Given the description of an element on the screen output the (x, y) to click on. 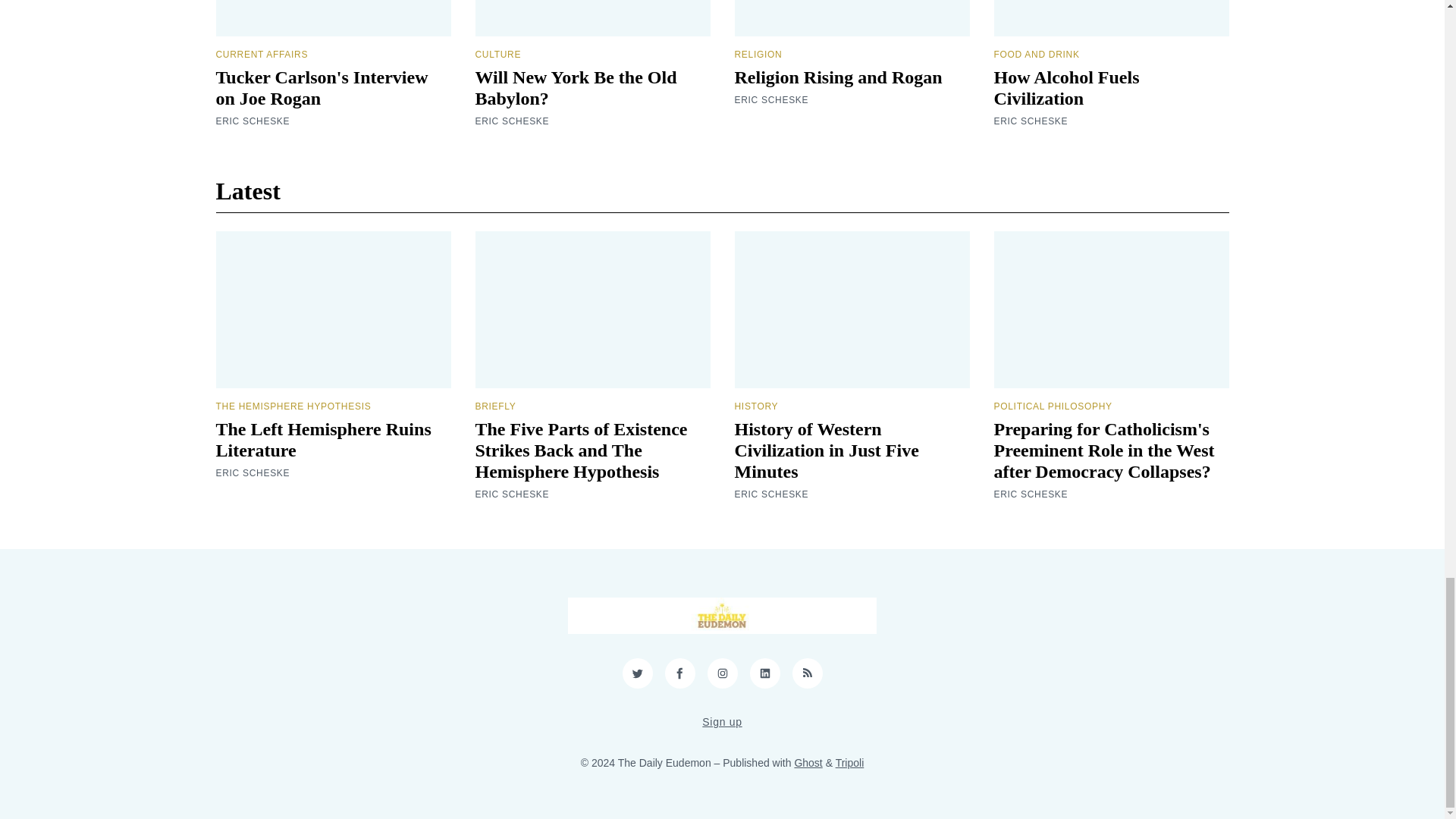
Tucker Carlson's Interview on Joe Rogan (321, 87)
ERIC SCHESKE (511, 121)
CULTURE (497, 54)
ERIC SCHESKE (770, 100)
ERIC SCHESKE (252, 121)
ERIC SCHESKE (1029, 121)
How Alcohol Fuels Civilization (1065, 87)
FOOD AND DRINK (1035, 54)
CURRENT AFFAIRS (261, 54)
Will New York Be the Old Babylon? (575, 87)
RELIGION (757, 54)
Religion Rising and Rogan (837, 76)
